Given the description of an element on the screen output the (x, y) to click on. 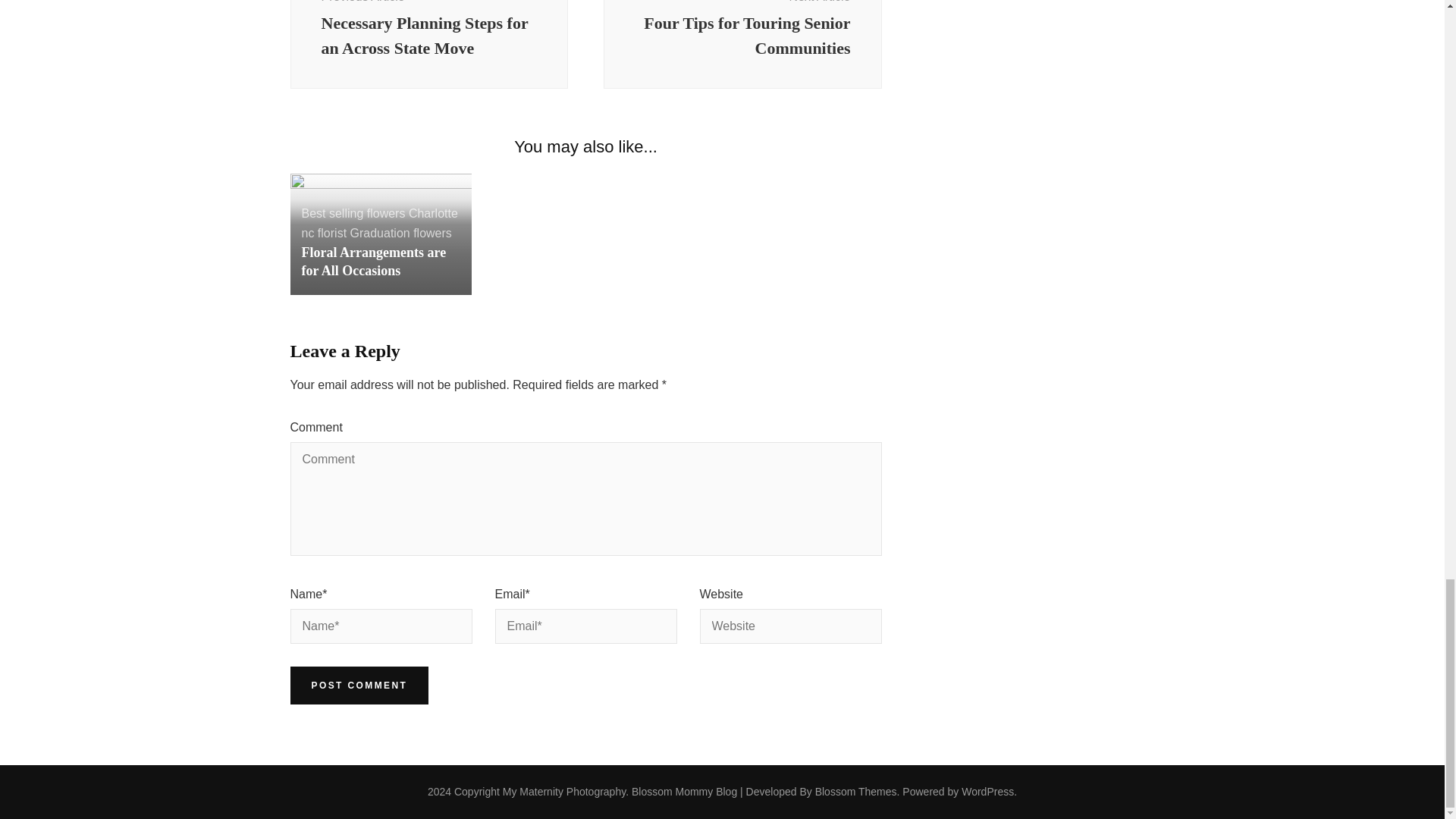
Floral Arrangements are for All Occasions (373, 261)
WordPress (986, 791)
Post Comment (743, 44)
Blossom Themes (358, 685)
My Maternity Photography (855, 791)
Graduation flowers (564, 791)
Charlotte nc florist (400, 232)
Post Comment (379, 223)
Best selling flowers (358, 685)
